Given the description of an element on the screen output the (x, y) to click on. 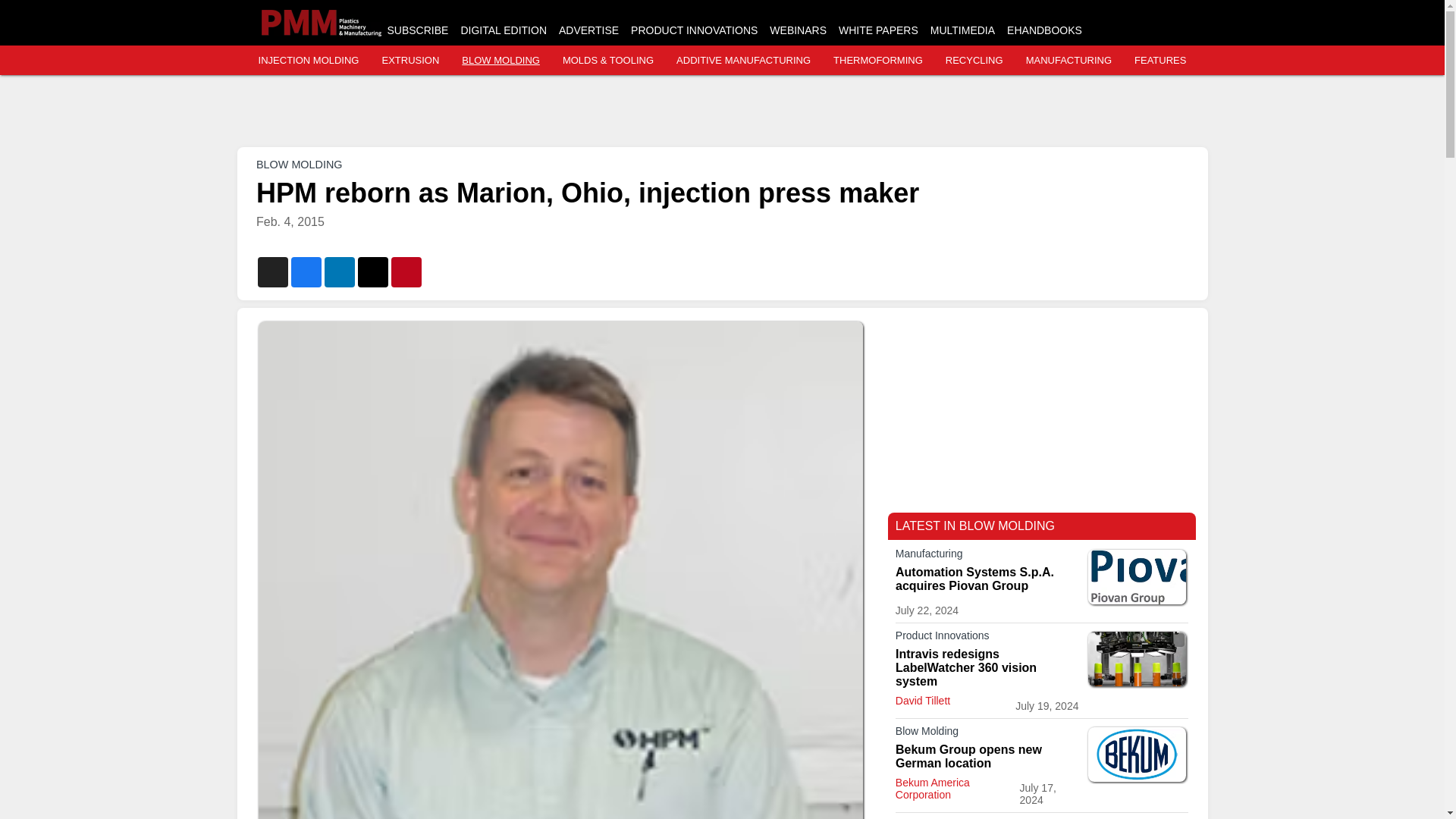
PRODUCT INNOVATIONS (693, 30)
EXTRUSION (410, 60)
WHITE PAPERS (878, 30)
SUBSCRIBE (417, 30)
MANUFACTURING (1069, 60)
WEBINARS (798, 30)
RECYCLING (973, 60)
LATEST IN BLOW MOLDING (974, 525)
EHANDBOOKS (1044, 30)
David Tillett (922, 700)
Automation Systems S.p.A. acquires Piovan Group (986, 578)
MULTIMEDIA (962, 30)
FEATURES (1160, 60)
Bekum Group opens new German location (986, 756)
